Given the description of an element on the screen output the (x, y) to click on. 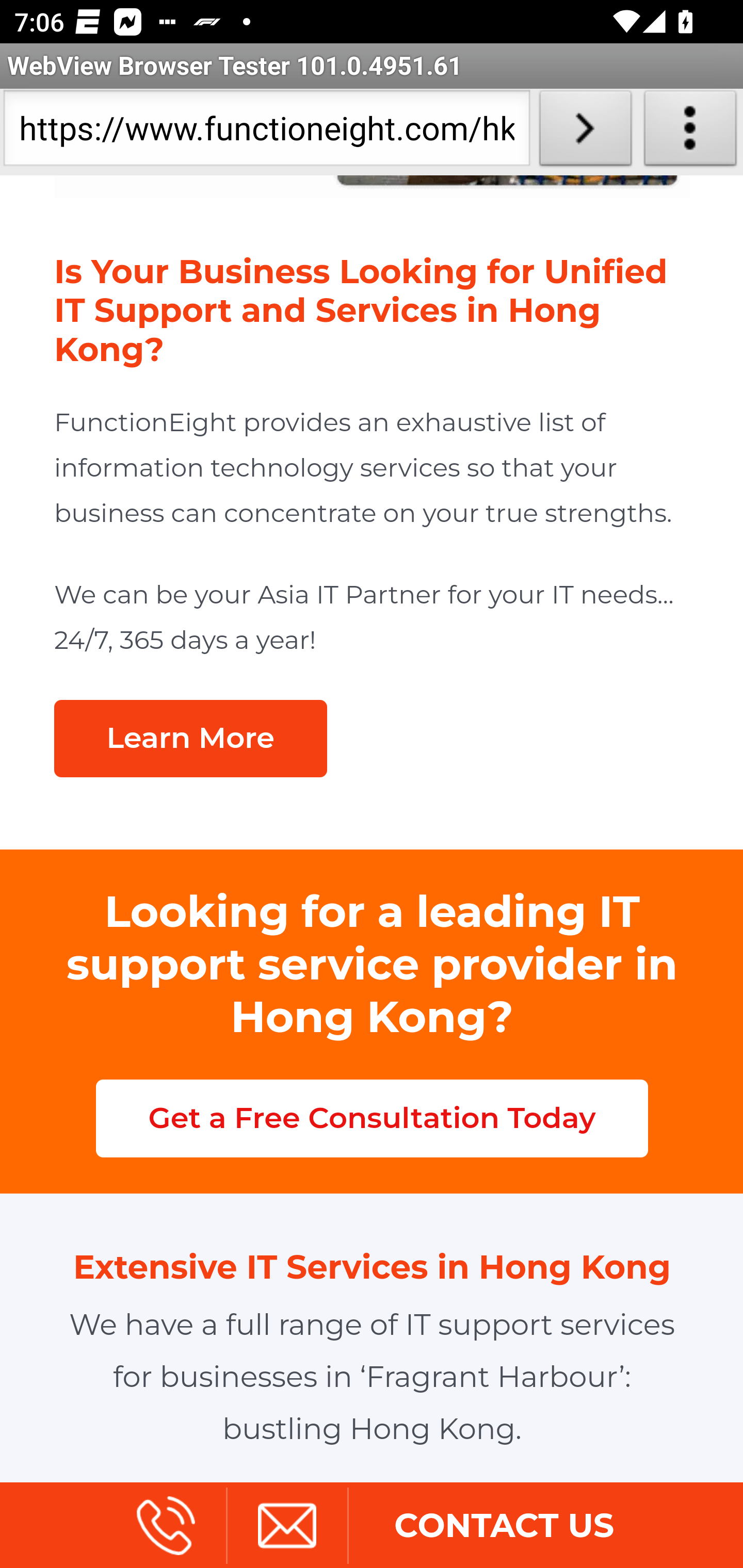
Load URL (585, 132)
About WebView (690, 132)
Learn More (190, 739)
Get a Free Consultation Today (371, 1118)
email (286, 1527)
CONTACT US (504, 1527)
